Given the description of an element on the screen output the (x, y) to click on. 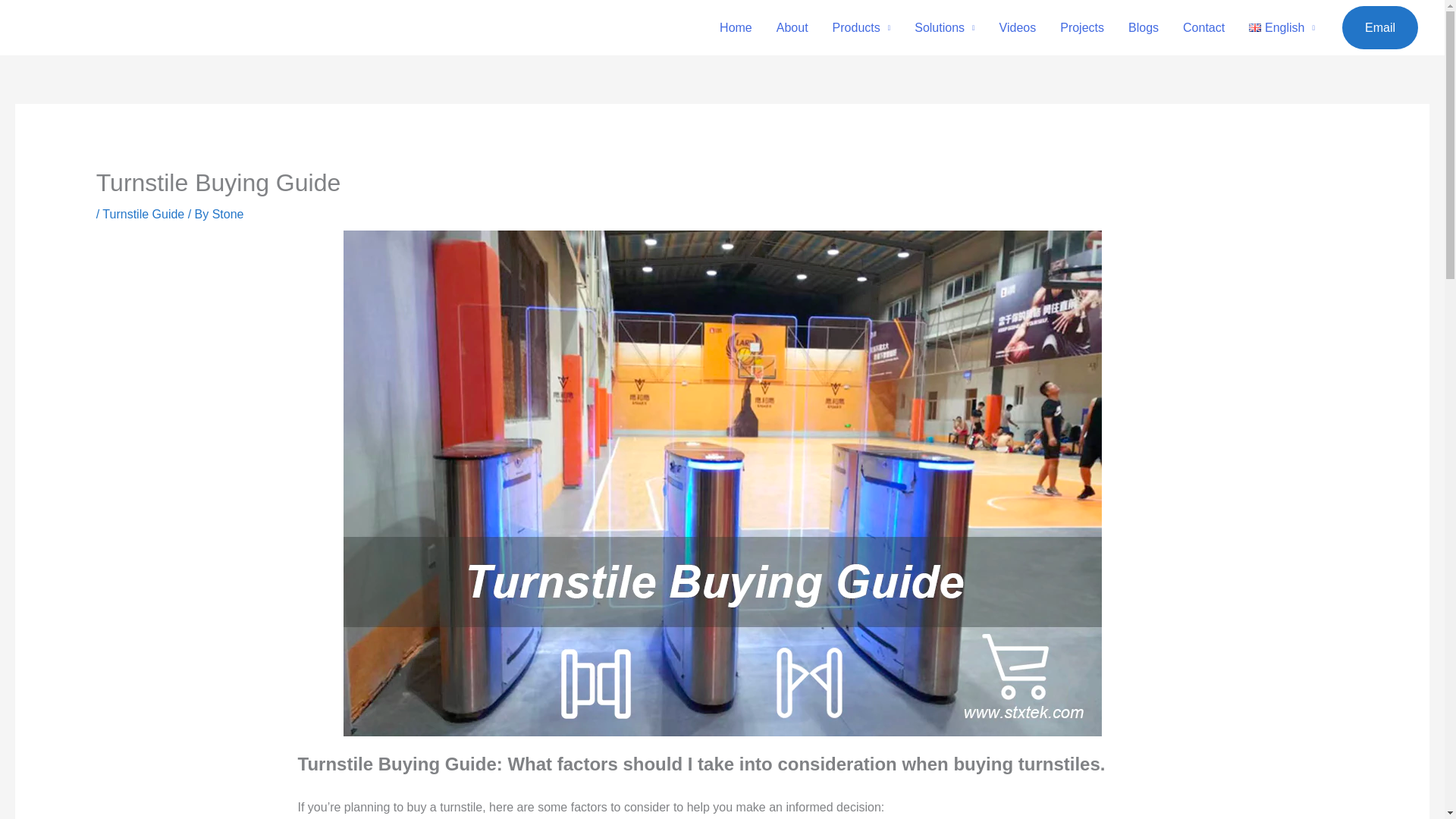
Projects (1082, 27)
About (792, 27)
Home (735, 27)
Videos (1017, 27)
Blogs (1143, 27)
Solutions (944, 27)
Products (861, 27)
Email (1380, 27)
English (1281, 27)
View all posts by Stone (228, 214)
Contact (1203, 27)
